Given the description of an element on the screen output the (x, y) to click on. 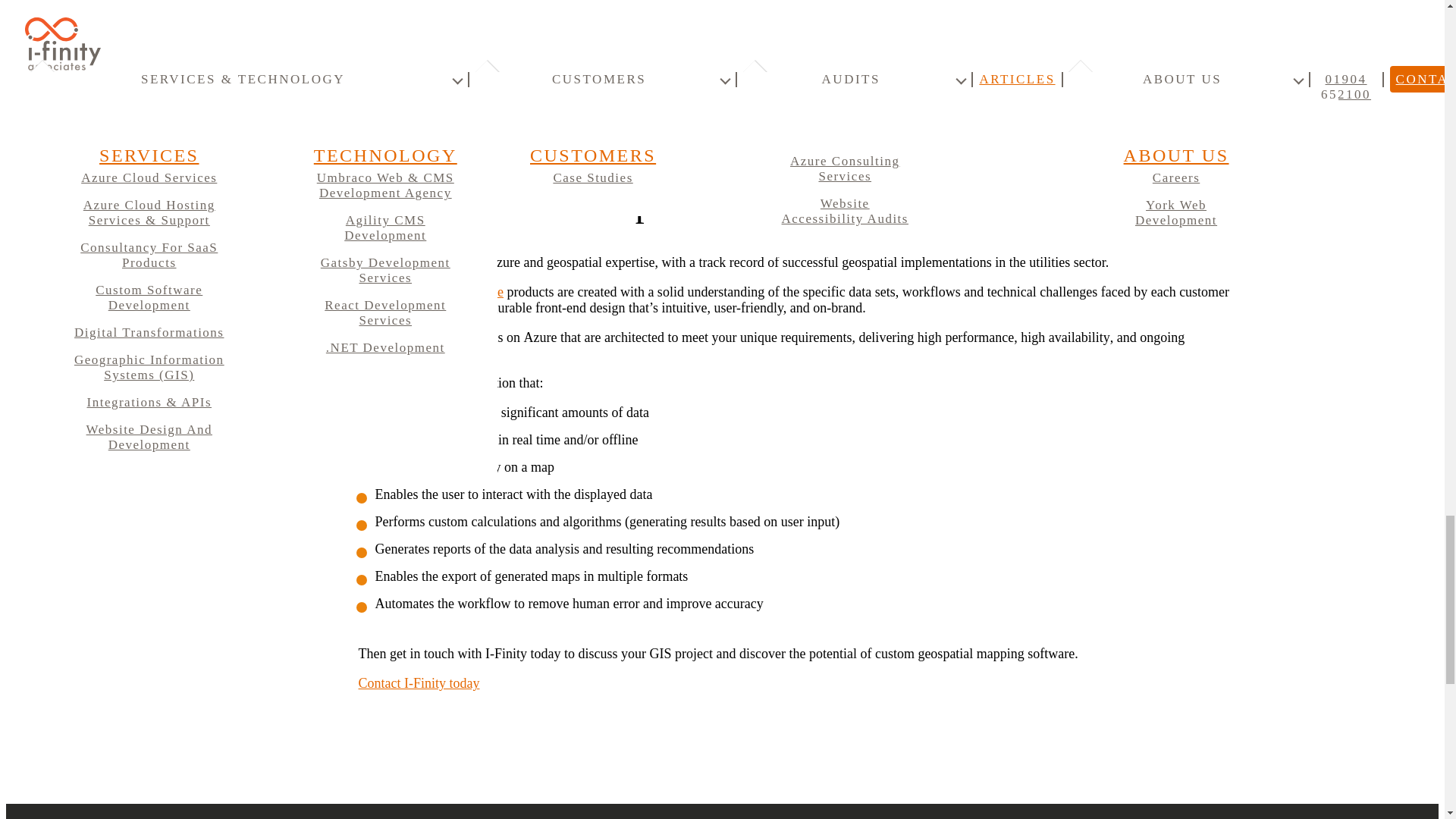
Learn more about our TerraFlow partnership (479, 114)
TerraFlow Case Study (479, 114)
bespoke GIS software (442, 291)
